Given the description of an element on the screen output the (x, y) to click on. 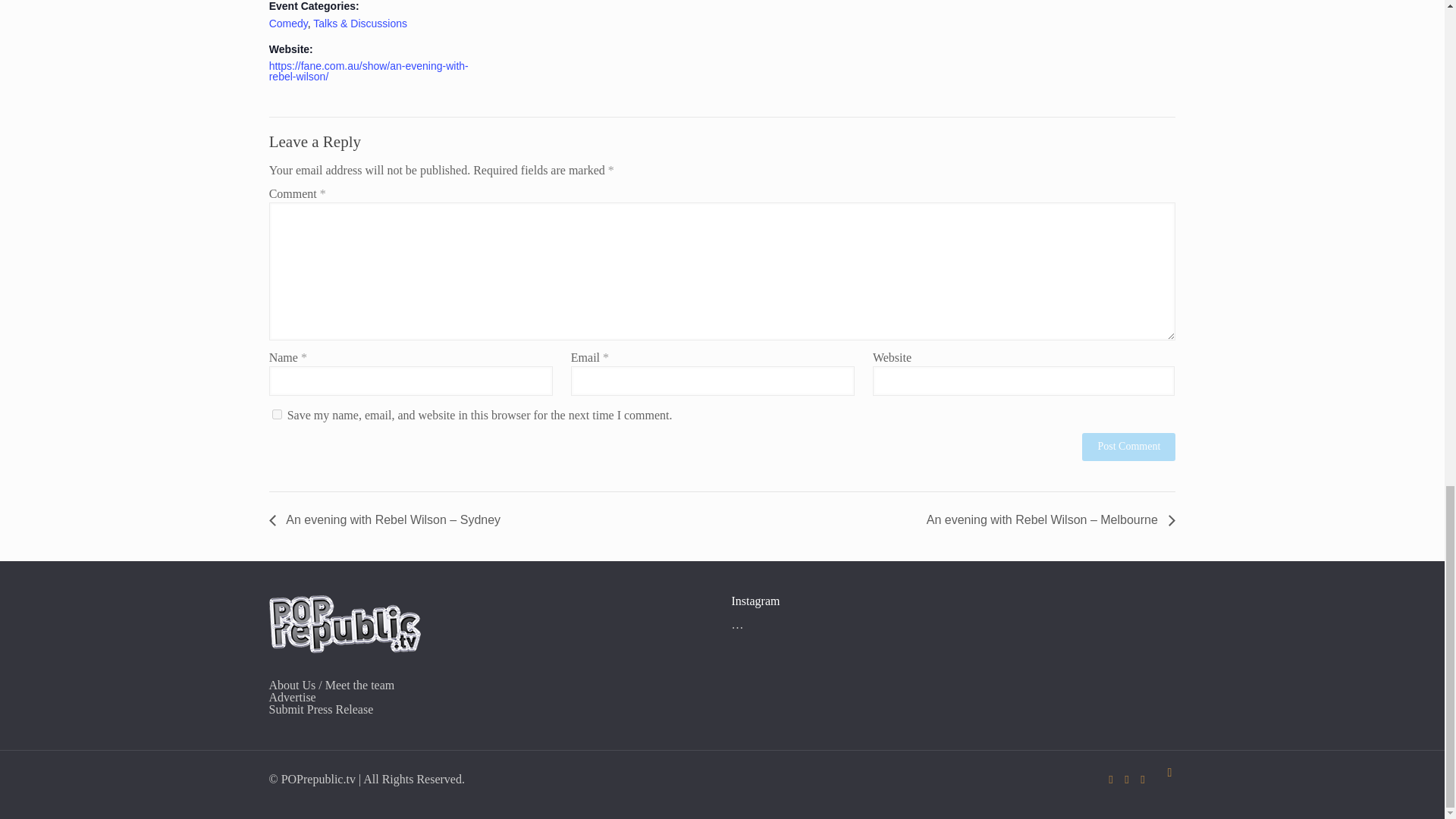
Post Comment (1127, 447)
YouTube (1126, 779)
yes (277, 414)
Facebook (1110, 779)
Comedy (288, 23)
Instagram (1142, 779)
